Given the description of an element on the screen output the (x, y) to click on. 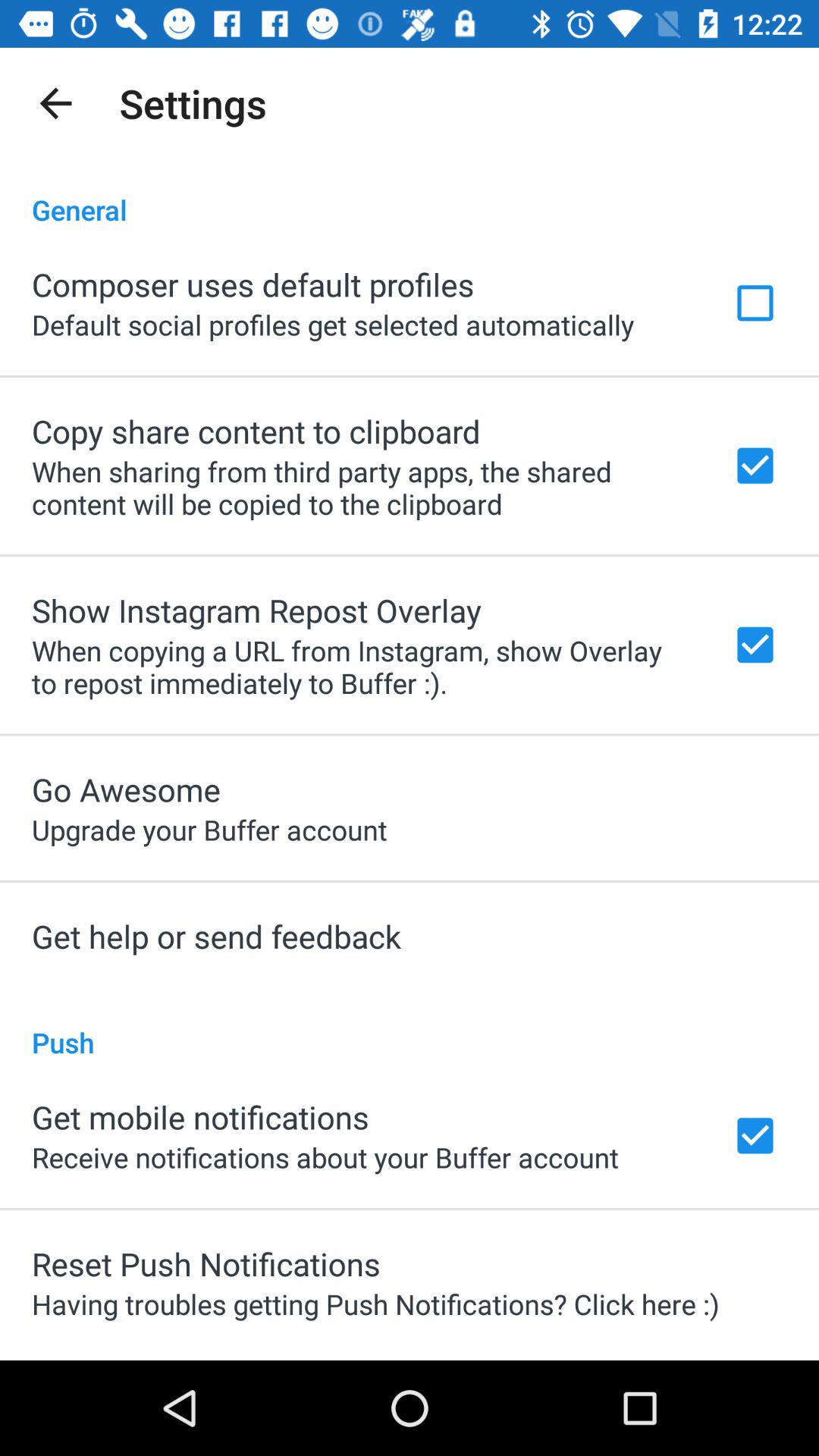
launch the icon below the push icon (200, 1116)
